Given the description of an element on the screen output the (x, y) to click on. 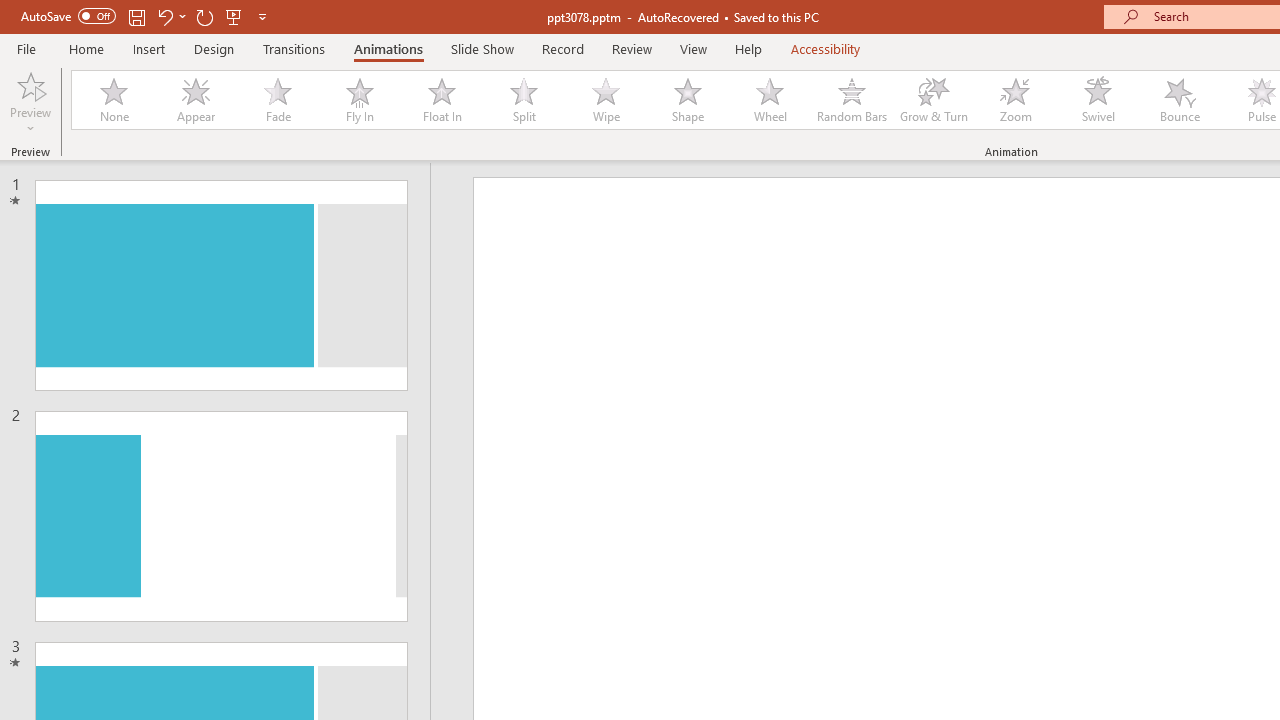
Grow & Turn (934, 100)
None (113, 100)
Fade (277, 100)
Swivel (1098, 100)
Wipe (605, 100)
